Given the description of an element on the screen output the (x, y) to click on. 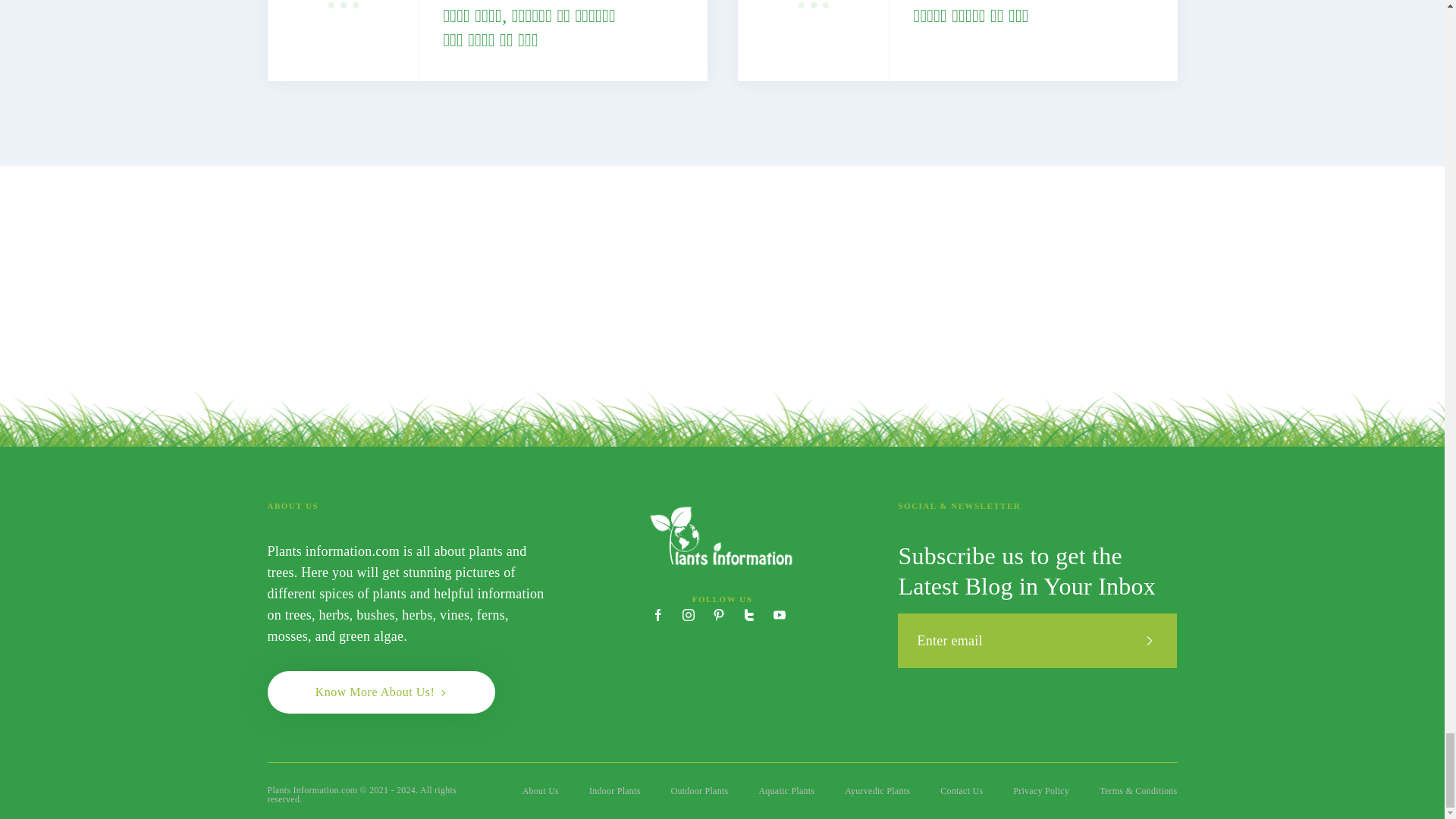
Subscribe (1149, 640)
